Given the description of an element on the screen output the (x, y) to click on. 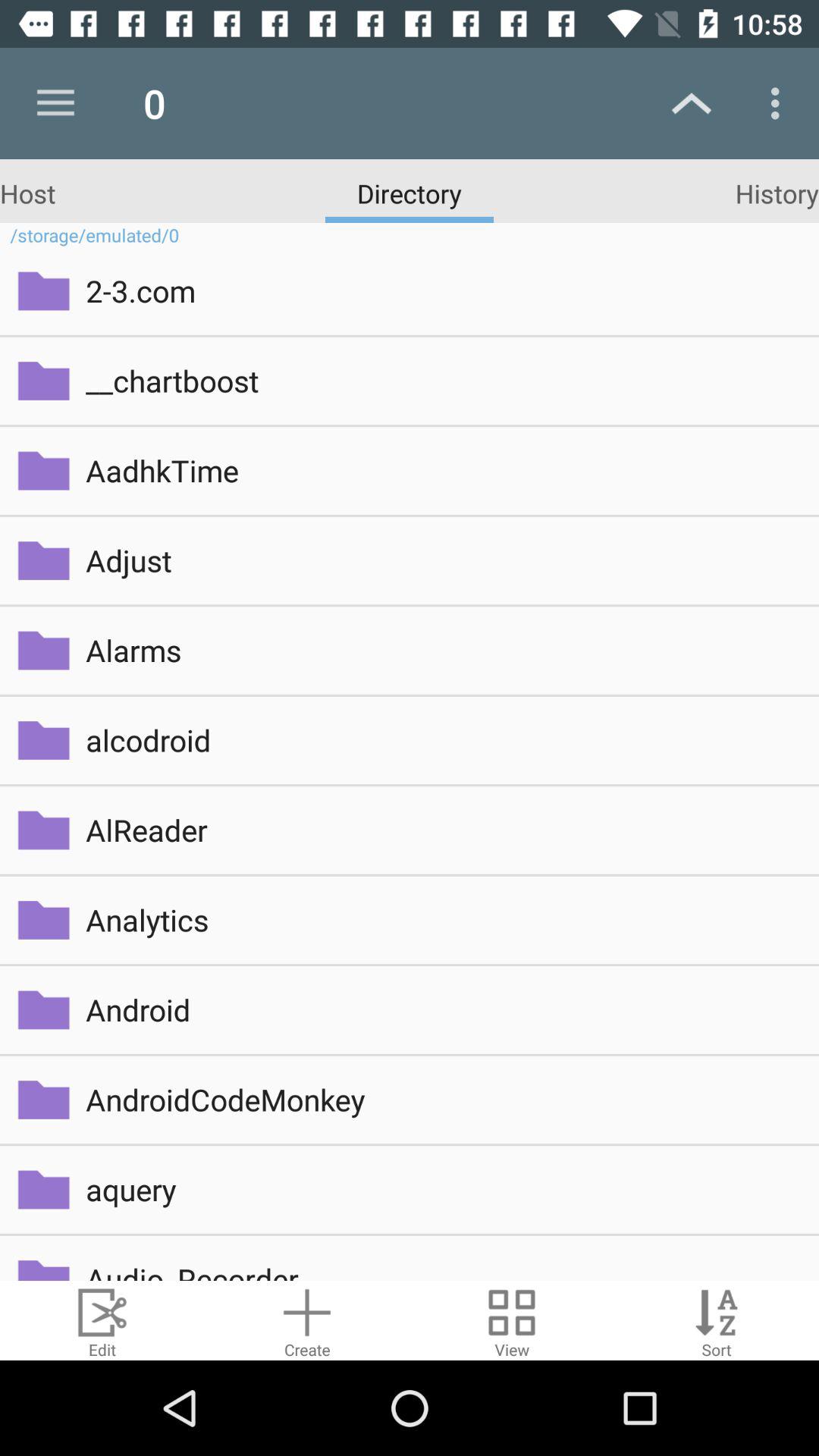
open the 2-3.com item (441, 290)
